Given the description of an element on the screen output the (x, y) to click on. 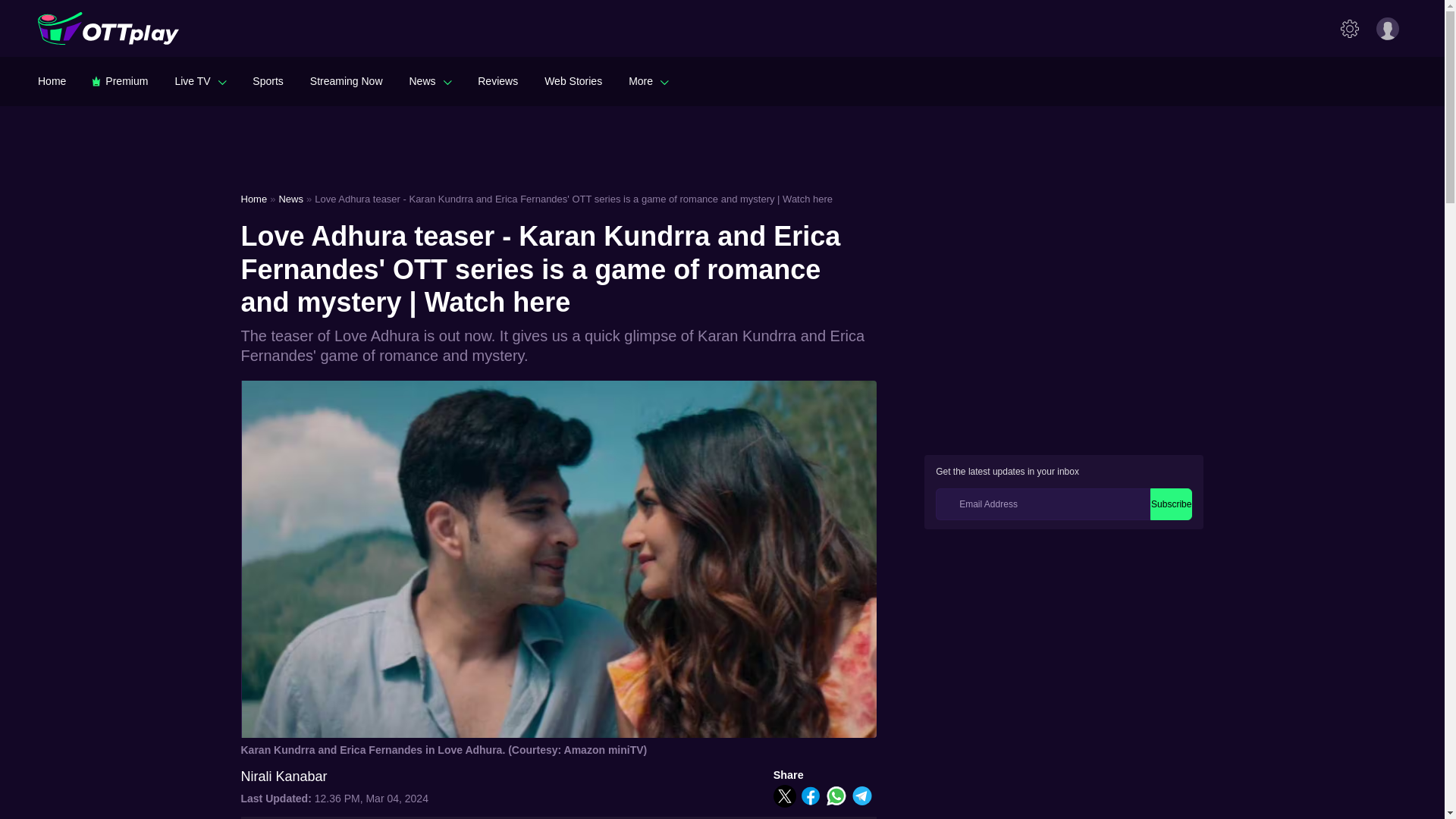
Streaming Now (346, 80)
Web Stories (573, 80)
News (430, 80)
Premium (120, 80)
Live TV (199, 80)
